Given the description of an element on the screen output the (x, y) to click on. 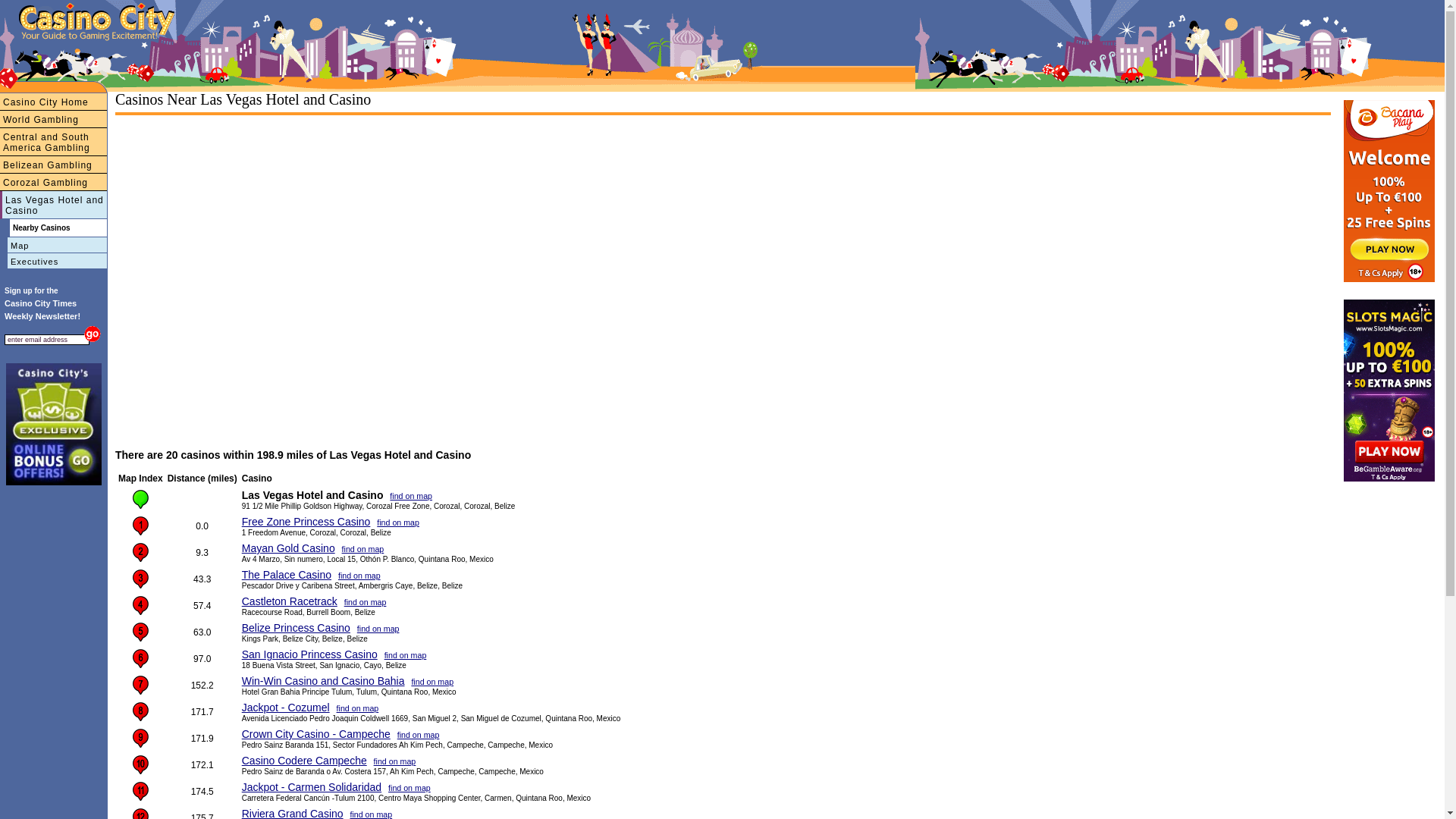
San Ignacio Princess Casino Element type: text (309, 654)
find on map Element type: text (365, 601)
Casino Codere Campeche Element type: text (304, 760)
find on map Element type: text (410, 495)
find on map Element type: text (405, 654)
enter email address Element type: text (46, 339)
find on map Element type: text (418, 734)
Map Element type: text (7, 60)
Mayan Gold Casino Element type: text (288, 548)
Castleton Racetrack Element type: text (289, 601)
The Palace Casino Element type: text (286, 574)
Belizean Gambling Element type: text (53, 164)
Executives Element type: text (35, 60)
find on map Element type: text (359, 575)
find on map Element type: text (378, 628)
World Gambling Element type: text (53, 119)
Jackpot - Cozumel Element type: text (285, 707)
Belize Princess Casino Element type: text (295, 627)
Crown City Casino - Campeche Element type: text (315, 734)
find on map Element type: text (432, 681)
find on map Element type: text (357, 707)
Executives Element type: text (53, 261)
find on map Element type: text (397, 522)
Las Vegas Hotel and Casino Element type: text (53, 205)
Jackpot - Carmen Solidaridad Element type: text (311, 787)
Central and South America Gambling Element type: text (53, 142)
Free Zone Princess Casino Element type: text (305, 521)
Map Element type: text (53, 245)
Win-Win Casino and Casino Bahia Element type: text (322, 680)
find on map Element type: text (409, 787)
find on map Element type: text (363, 548)
find on map Element type: text (394, 760)
Corozal Gambling Element type: text (53, 182)
Casino City Home Element type: text (53, 101)
